Given the description of an element on the screen output the (x, y) to click on. 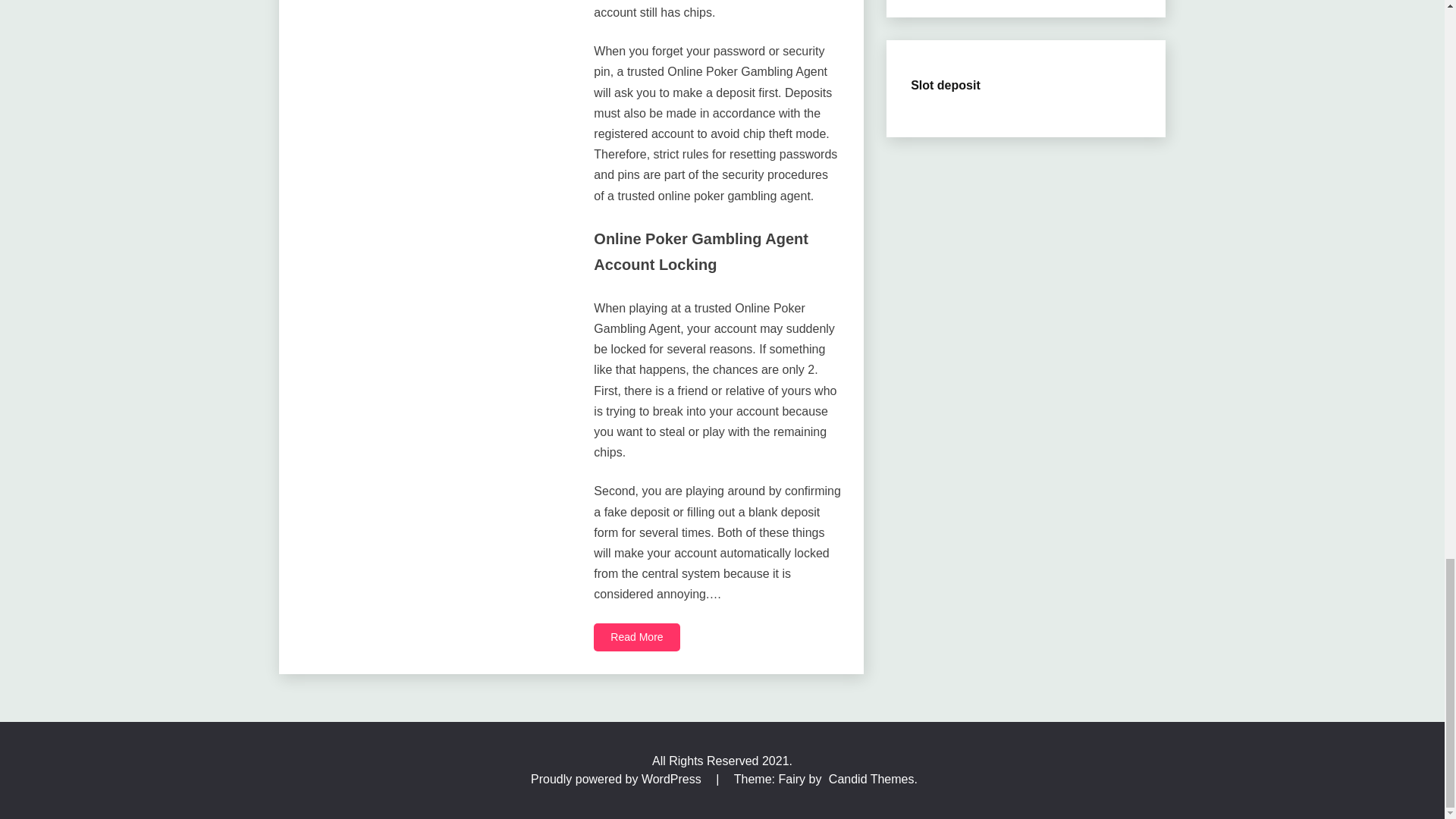
Slot deposit (945, 84)
Read More (636, 637)
